Given the description of an element on the screen output the (x, y) to click on. 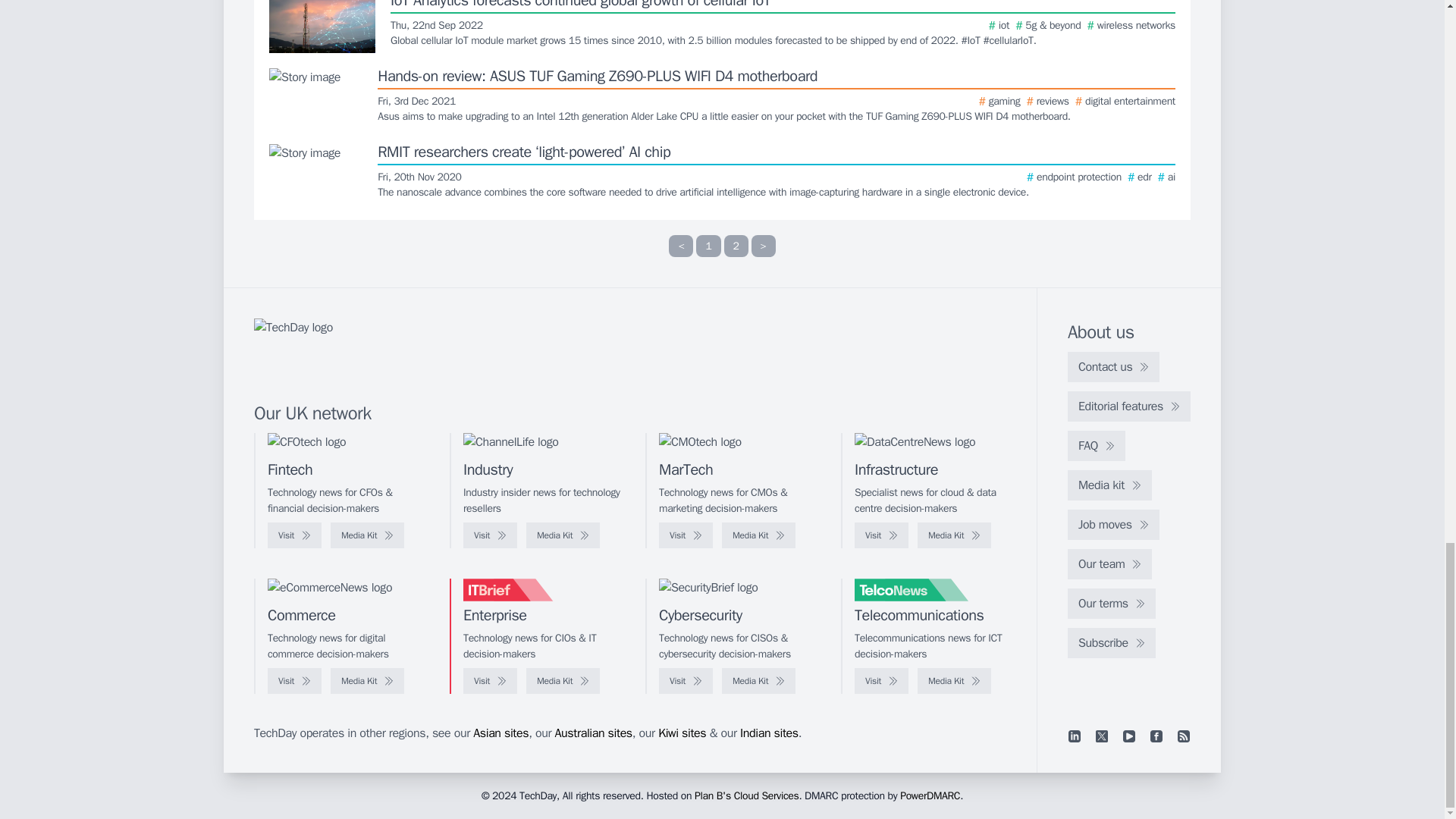
Media Kit (562, 534)
2 (735, 246)
Visit (489, 534)
Visit (294, 534)
1 (707, 246)
Media Kit (367, 534)
